Given the description of an element on the screen output the (x, y) to click on. 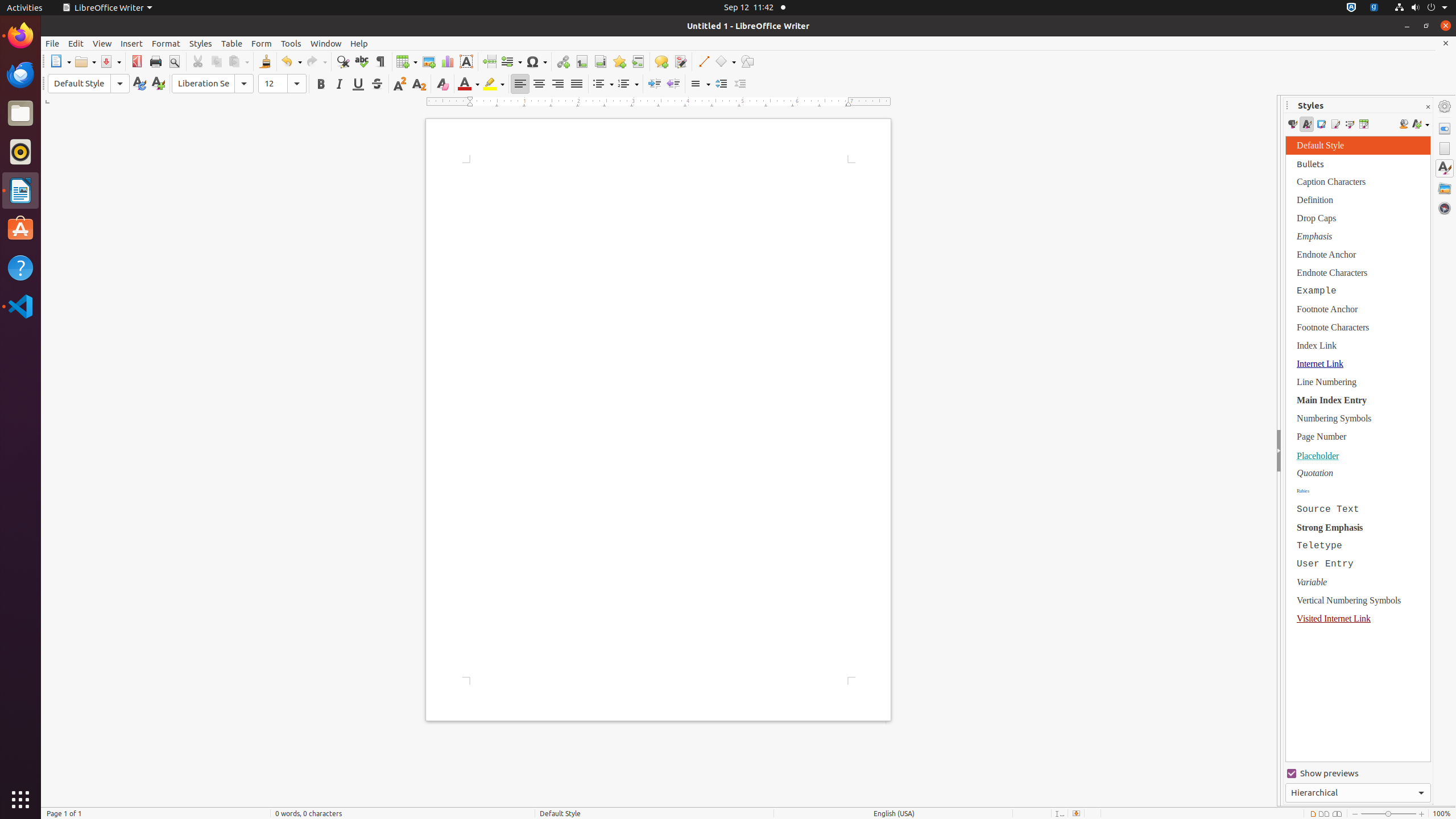
Cross-reference Element type: push-button (637, 61)
Bold Element type: toggle-button (320, 83)
List Styles Element type: push-button (1349, 123)
Cut Element type: push-button (197, 61)
Paste Element type: push-button (237, 61)
